Given the description of an element on the screen output the (x, y) to click on. 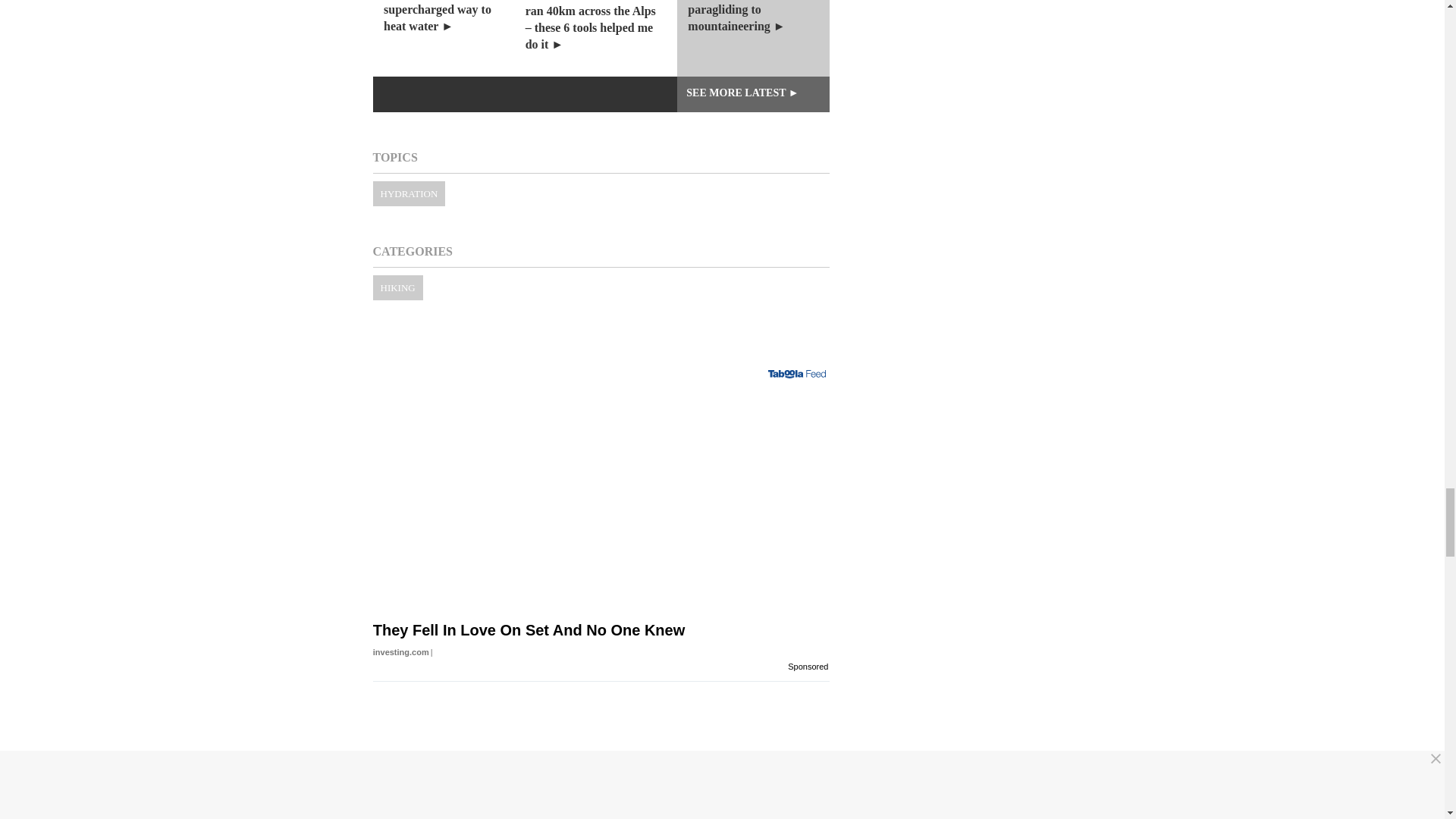
They Fell In Love On Set And No One Knew (600, 656)
They Fell In Love On Set And No One Knew (600, 517)
